Given the description of an element on the screen output the (x, y) to click on. 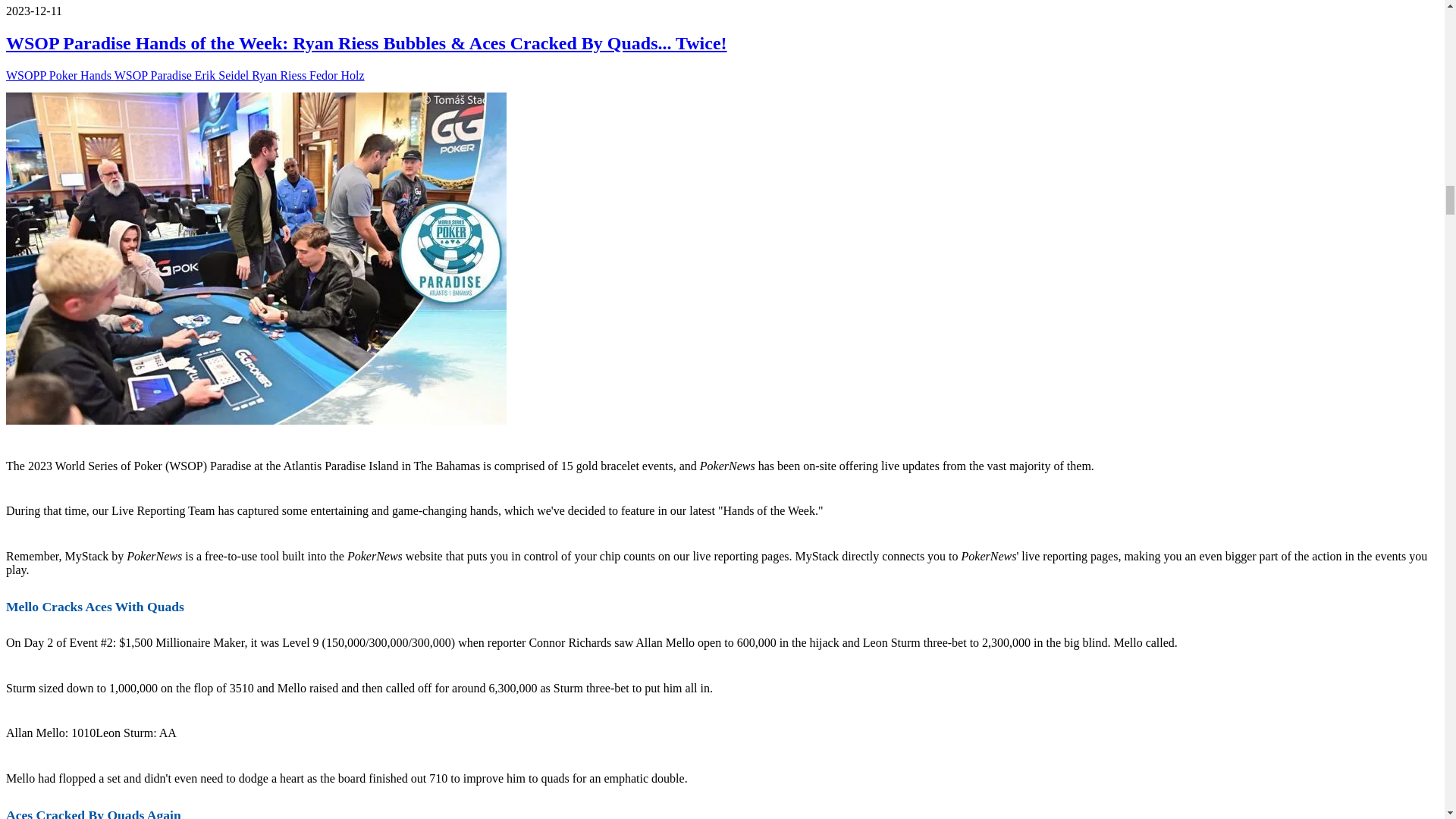
WSOP Paradise (155, 74)
Fedor (336, 74)
Erik (223, 74)
WSOPP (27, 74)
Ryan Riess (279, 74)
Poker Hands (82, 74)
WSOP (155, 74)
Poker (82, 74)
Ryan (279, 74)
Erik Seidel (223, 74)
WSOPP (27, 74)
Fedor Holz (336, 74)
